Given the description of an element on the screen output the (x, y) to click on. 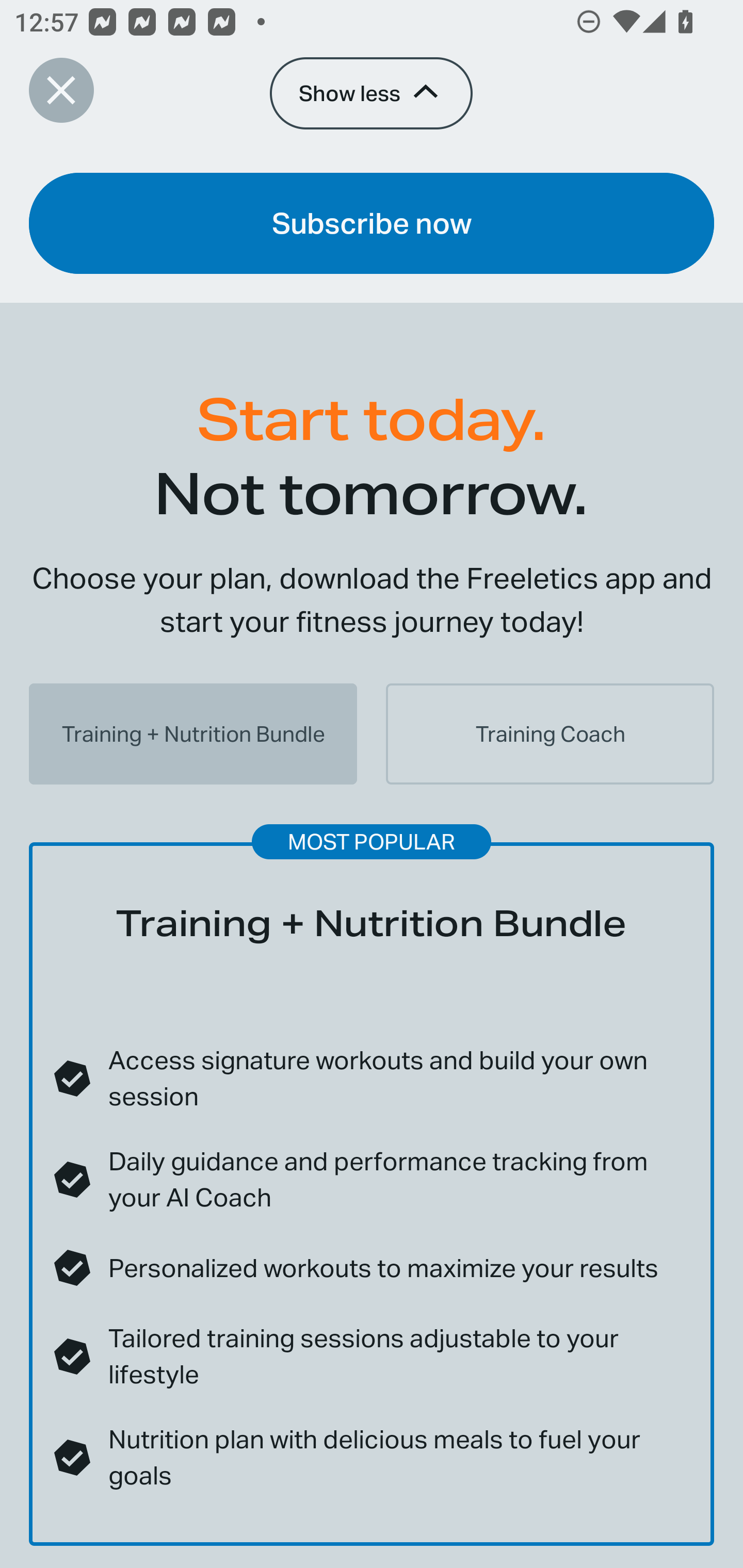
Close (60, 90)
Show less (370, 94)
Subscribe now (371, 223)
Training + Nutrition Bundle (192, 733)
Training Coach (549, 733)
